Given the description of an element on the screen output the (x, y) to click on. 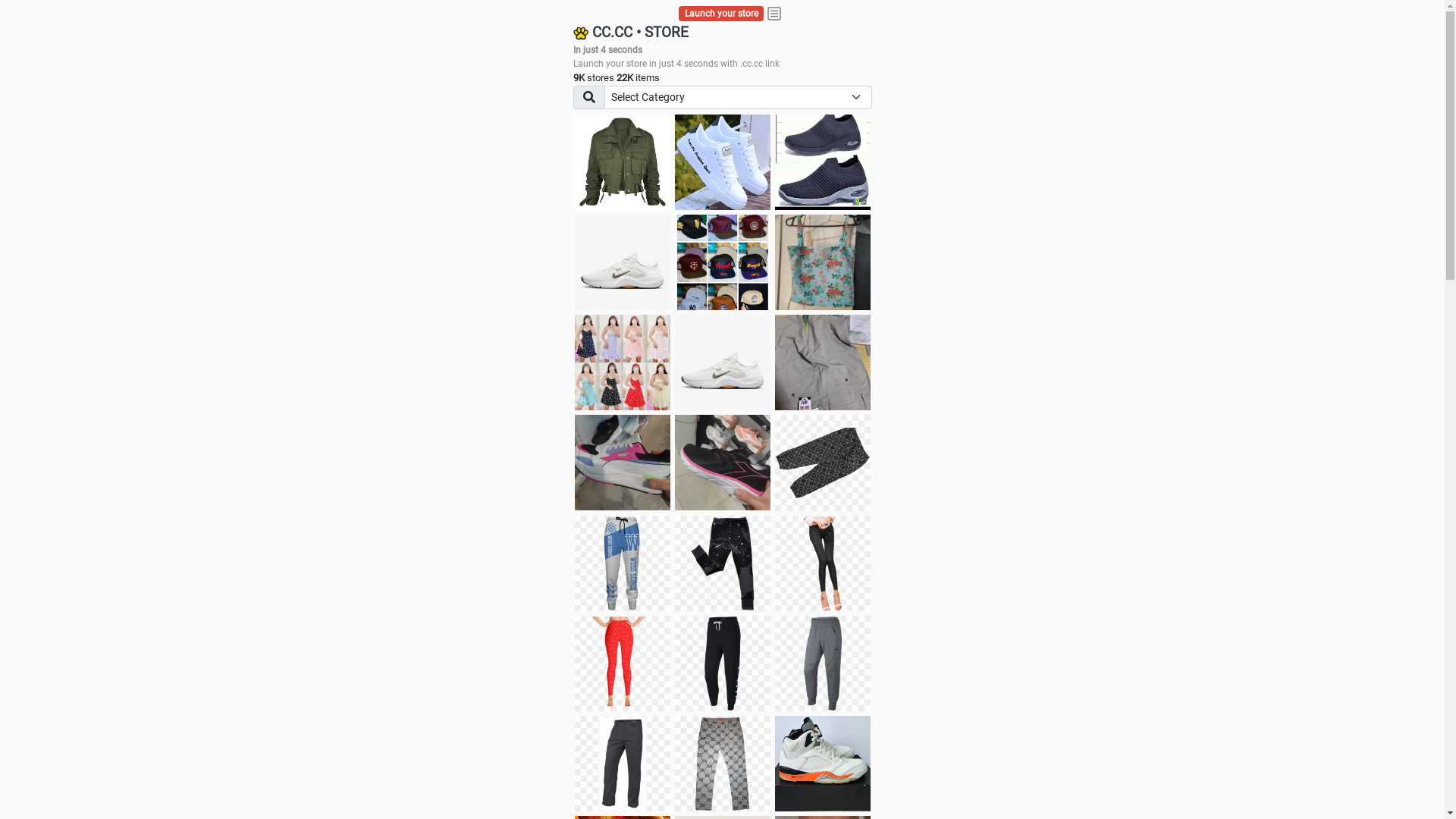
Pant Element type: hover (722, 563)
Pant Element type: hover (822, 663)
Short pant Element type: hover (822, 462)
Pant Element type: hover (622, 663)
Shoes for boys Element type: hover (622, 262)
shoes for boys Element type: hover (822, 162)
Pant Element type: hover (722, 763)
Pant Element type: hover (722, 663)
Pant Element type: hover (622, 563)
Zapatillas pumas Element type: hover (622, 462)
Pant Element type: hover (622, 763)
Pant Element type: hover (822, 563)
Things we need Element type: hover (722, 262)
Shoe Element type: hover (822, 763)
white shoes Element type: hover (722, 162)
Zapatillas Element type: hover (722, 462)
Launch your store Element type: text (721, 13)
Shoes Element type: hover (722, 362)
Dress/square nect top Element type: hover (622, 362)
Ukay cloth Element type: hover (822, 262)
jacket Element type: hover (622, 162)
